Given the description of an element on the screen output the (x, y) to click on. 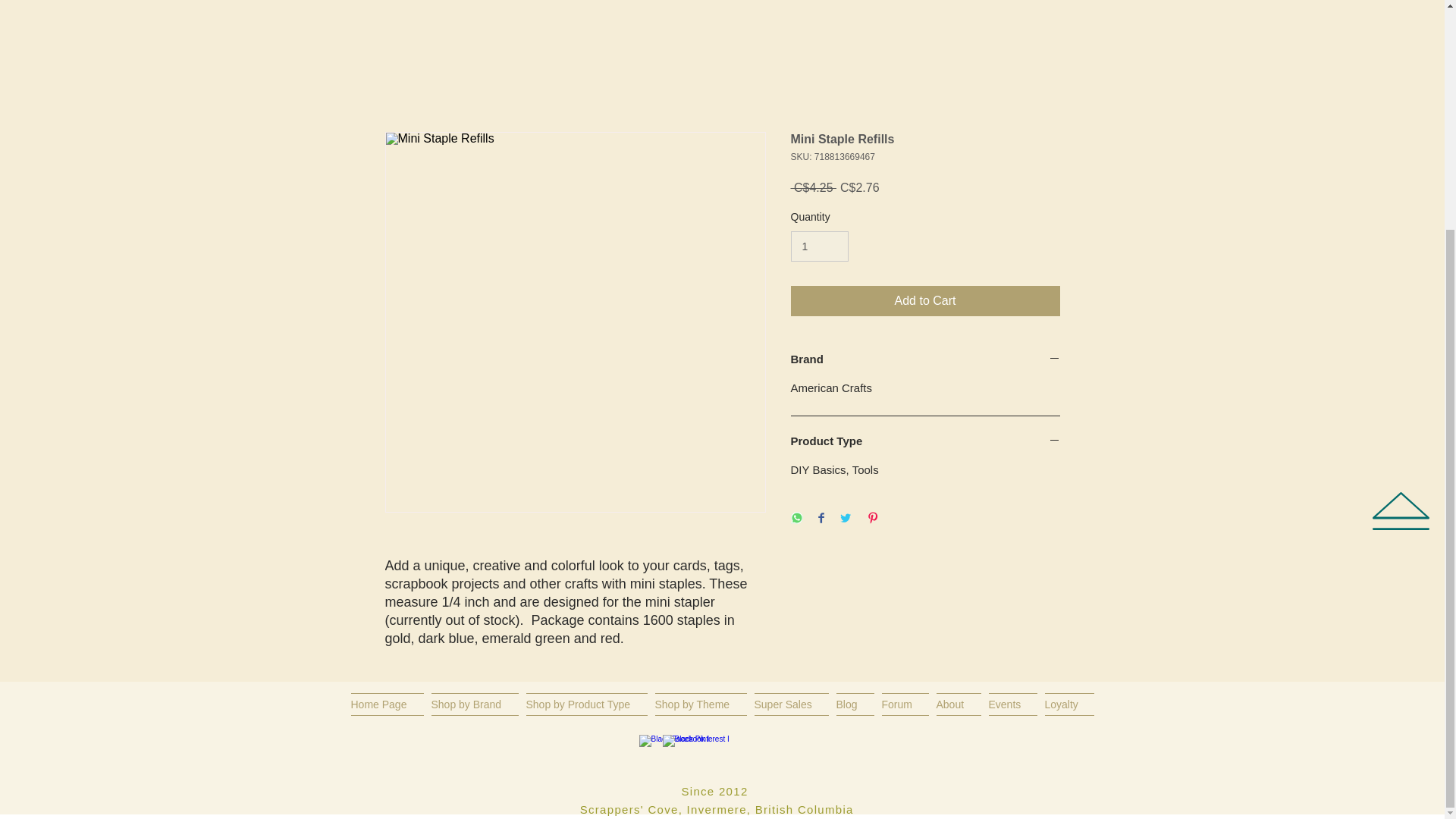
1 (818, 246)
